Given the description of an element on the screen output the (x, y) to click on. 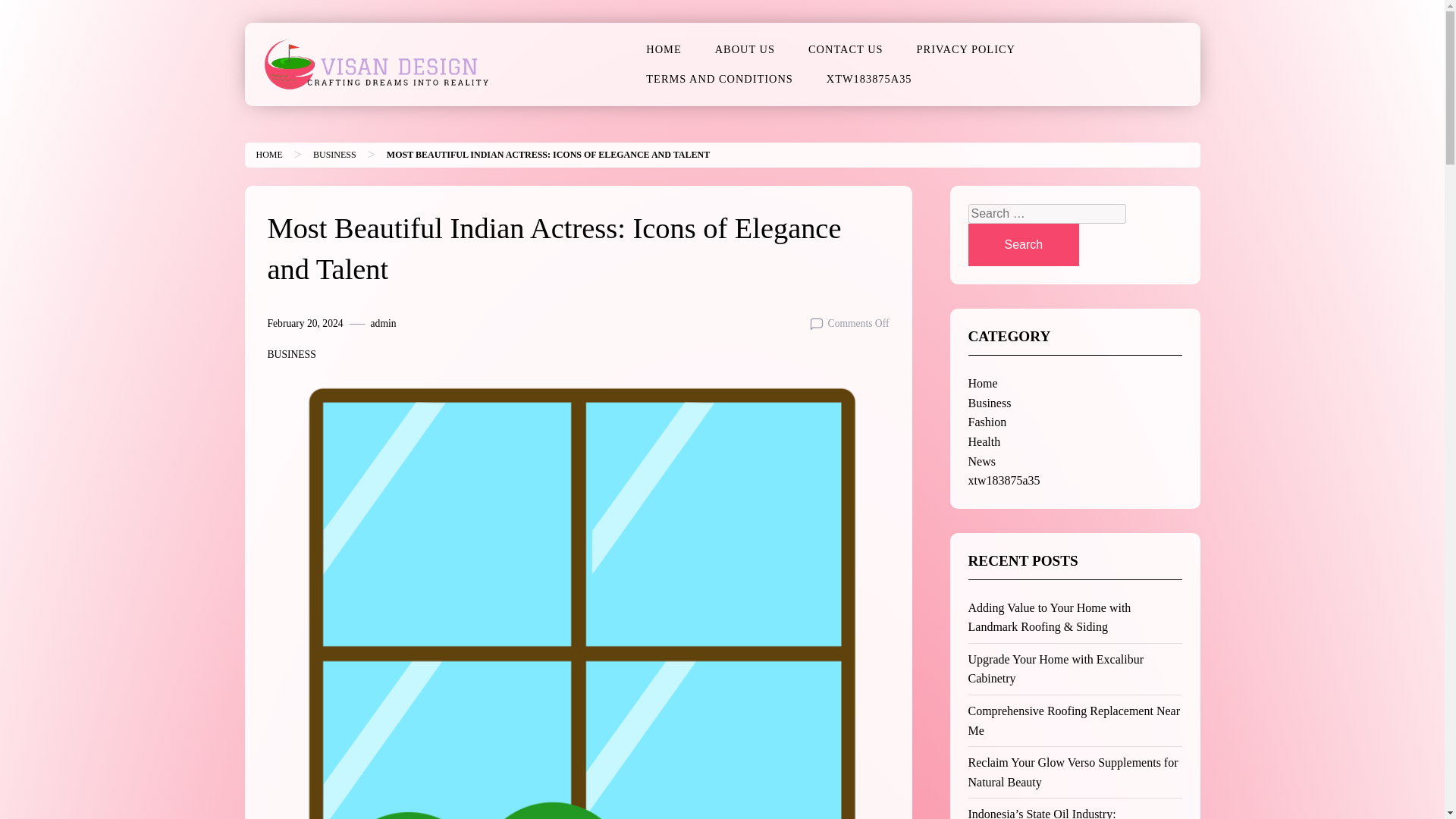
Most Beautiful Indian Actress: Icons of Elegance and Talent (548, 154)
BUSINESS (334, 154)
Upgrade Your Home with Excalibur Cabinetry (1055, 668)
Comprehensive Roofing Replacement Near Me (1073, 720)
Reclaim Your Glow Verso Supplements for Natural Beauty (1072, 771)
HOME (662, 49)
TERMS AND CONDITIONS (719, 79)
Home (269, 154)
Business (989, 402)
Home (982, 382)
ABOUT US (745, 49)
admin (383, 323)
News (981, 461)
XTW183875A35 (868, 79)
February 20, 2024 (304, 323)
